Given the description of an element on the screen output the (x, y) to click on. 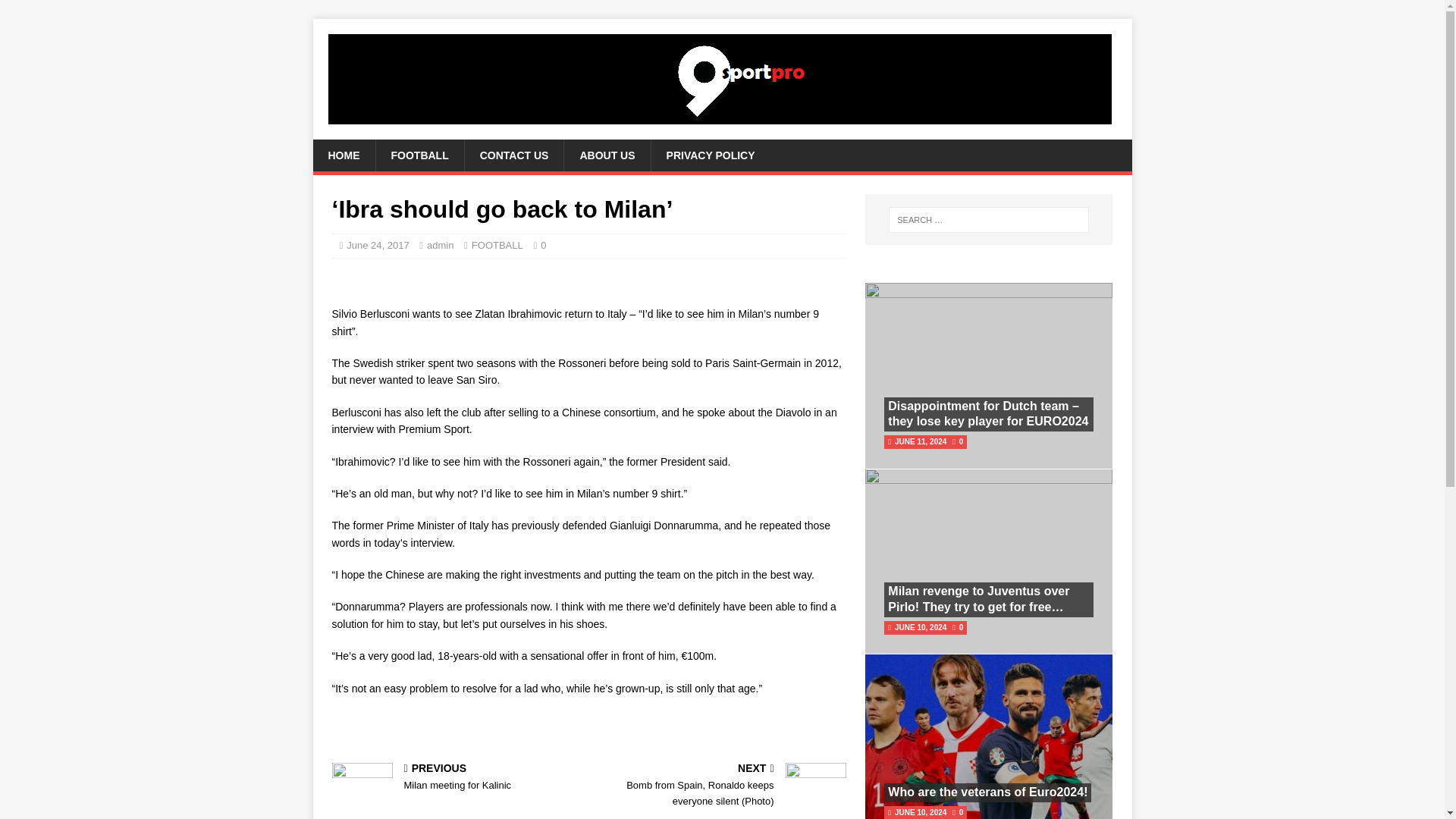
FOOTBALL (496, 244)
June 24, 2017 (377, 244)
FOOTBALL (457, 777)
Search (418, 155)
ABOUT US (56, 11)
Who are the veterans of Euro2024! (606, 155)
CONTACT US (987, 791)
admin (514, 155)
Who are the veterans of Euro2024! (439, 244)
PRIVACY POLICY (987, 791)
HOME (710, 155)
